Given the description of an element on the screen output the (x, y) to click on. 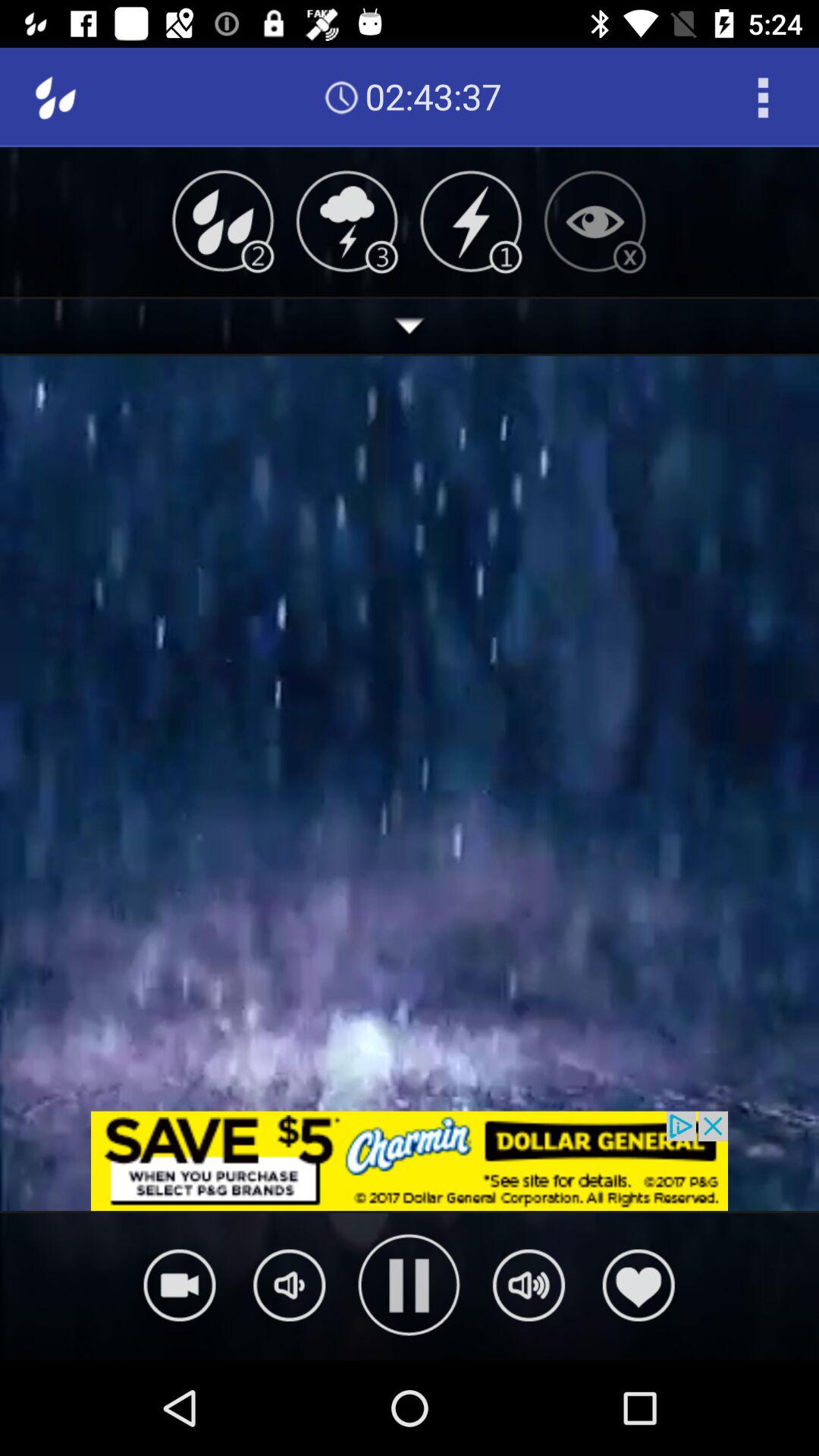
click more (409, 326)
